Given the description of an element on the screen output the (x, y) to click on. 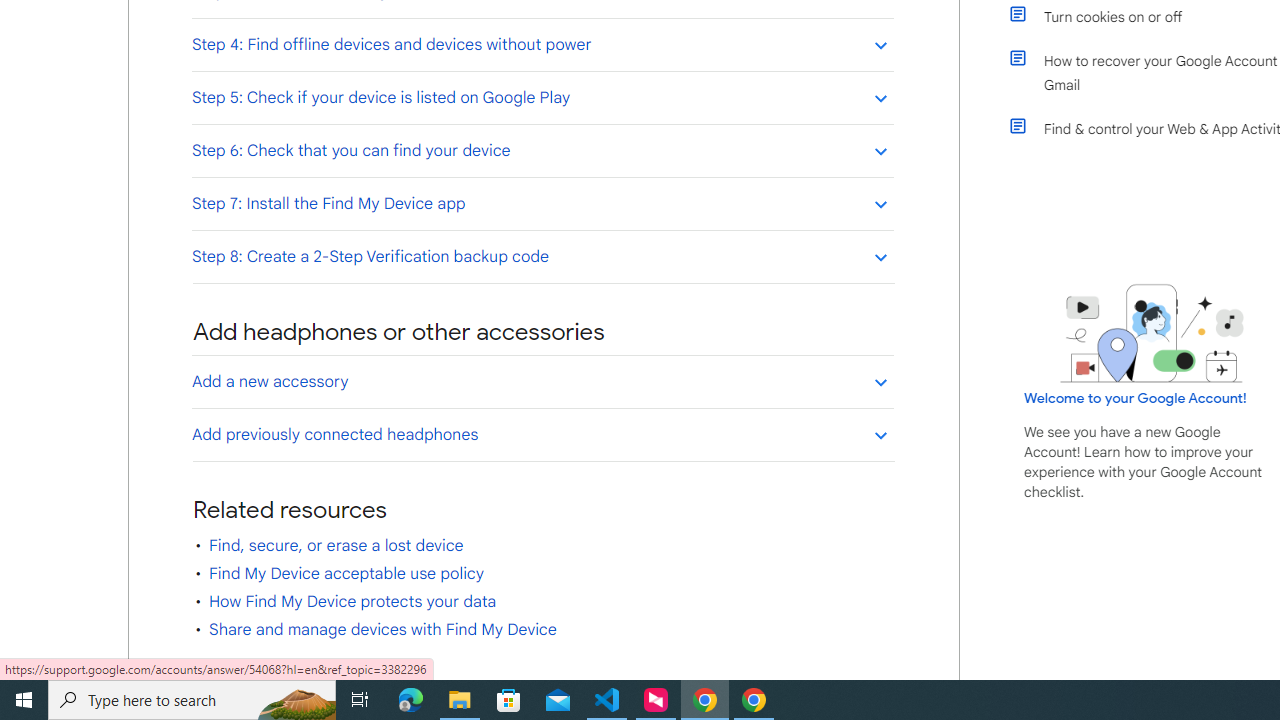
Learning Center home page image (1152, 333)
Find, secure, or erase a lost device (335, 545)
Step 7: Install the Find My Device app (542, 203)
Give feedback about this article (298, 680)
Step 8: Create a 2-Step Verification backup code (542, 255)
Add previously connected headphones (542, 434)
Step 4: Find offline devices and devices without power (542, 44)
Find My Device acceptable use policy (346, 573)
How Find My Device protects your data (352, 601)
Step 6: Check that you can find your device (542, 150)
Share and manage devices with Find My Device (382, 629)
Welcome to your Google Account! (1135, 397)
Add a new accessory (542, 381)
